Given the description of an element on the screen output the (x, y) to click on. 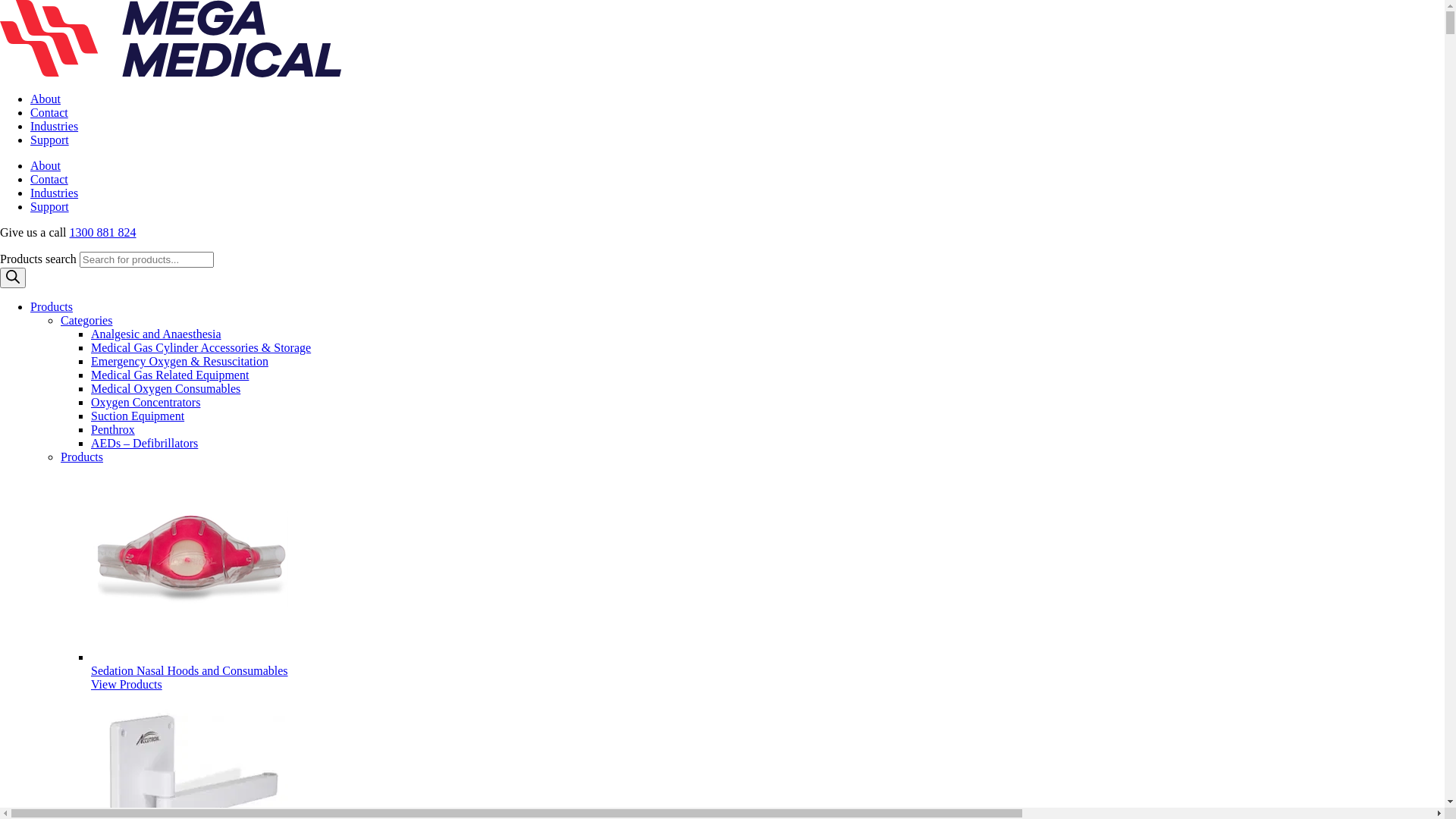
Industries Element type: text (54, 125)
Products Element type: text (51, 306)
Penthrox Element type: text (112, 429)
Support Element type: text (49, 139)
mega medical logo Element type: hover (170, 38)
View Products Element type: text (126, 683)
About Element type: text (45, 165)
Medical Gas Related Equipment Element type: text (169, 374)
Medical Gas Cylinder Accessories & Storage Element type: text (200, 347)
About Element type: text (45, 98)
Oxygen Concentrators Element type: text (145, 401)
Sedation Nasal Hoods and Consumables Element type: text (189, 670)
Products Element type: text (81, 456)
Analgesic and Anaesthesia Element type: text (156, 333)
Support Element type: text (49, 206)
Contact Element type: text (49, 112)
Contact Element type: text (49, 178)
Categories Element type: text (86, 319)
Medical Oxygen Consumables Element type: text (165, 388)
Emergency Oxygen & Resuscitation Element type: text (179, 360)
Industries Element type: text (54, 192)
1300 881 824 Element type: text (102, 231)
Suction Equipment Element type: text (137, 415)
